Given the description of an element on the screen output the (x, y) to click on. 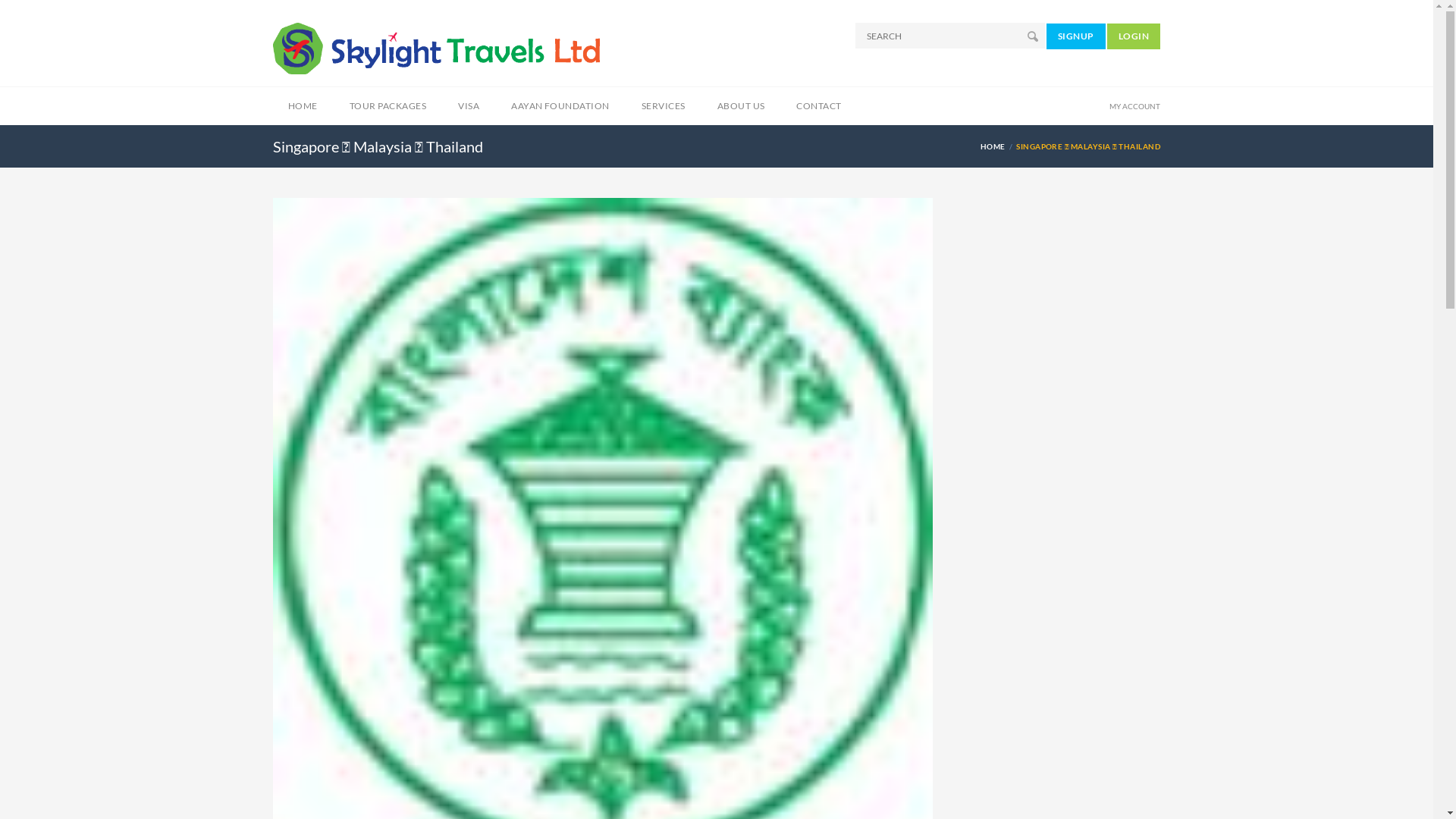
AAYAN FOUNDATION Element type: text (559, 106)
CONTACT Element type: text (818, 106)
MY ACCOUNT Element type: text (1134, 106)
SERVICES Element type: text (663, 106)
LOGIN Element type: text (1133, 35)
HOME Element type: text (994, 145)
ABOUT US Element type: text (741, 106)
HOME Element type: text (302, 106)
TOUR PACKAGES Element type: text (387, 106)
VISA Element type: text (468, 106)
SIGNUP Element type: text (1075, 35)
